Given the description of an element on the screen output the (x, y) to click on. 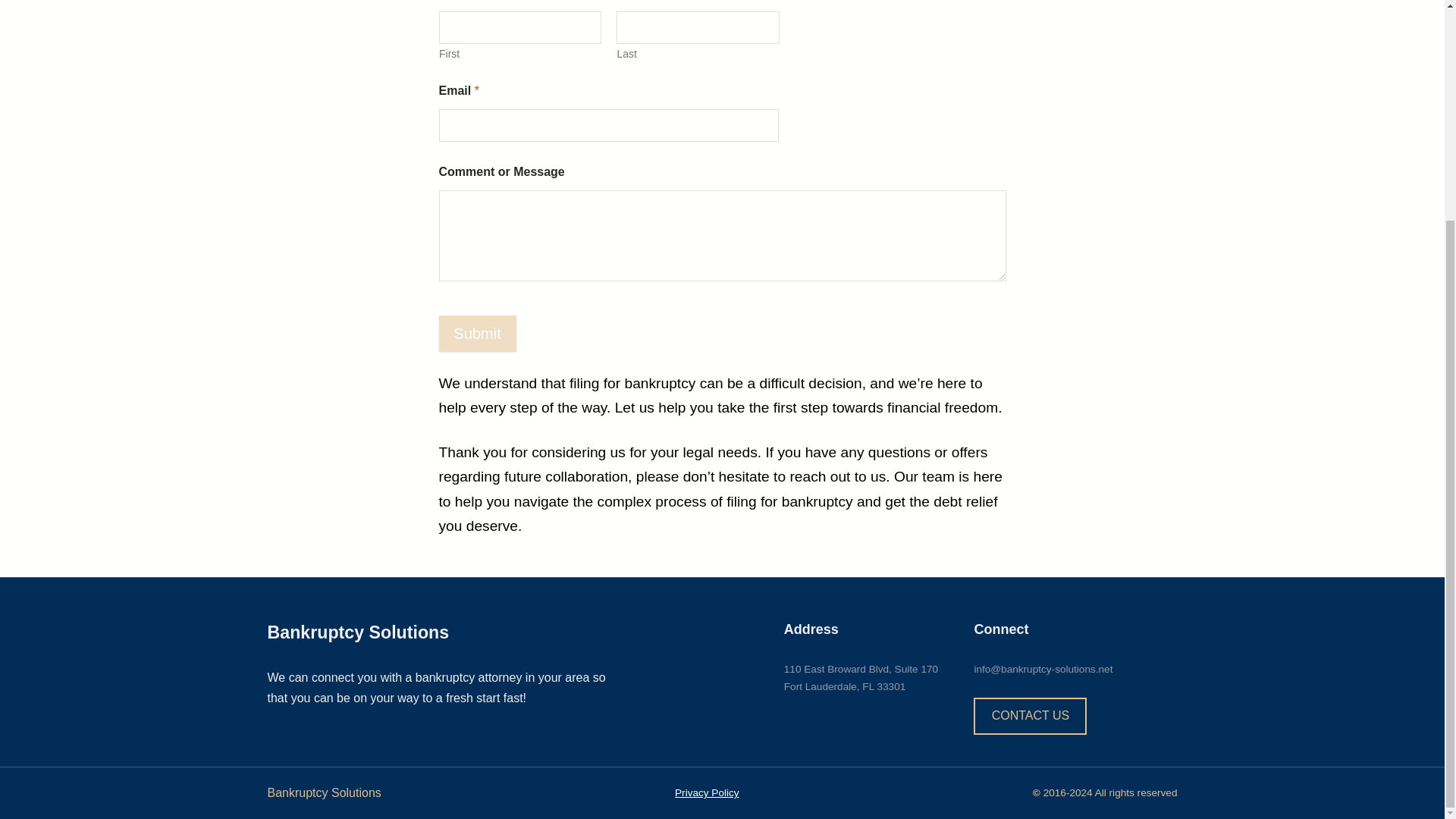
Privacy Policy (707, 792)
Submit (476, 333)
CONTACT US (1030, 715)
